Given the description of an element on the screen output the (x, y) to click on. 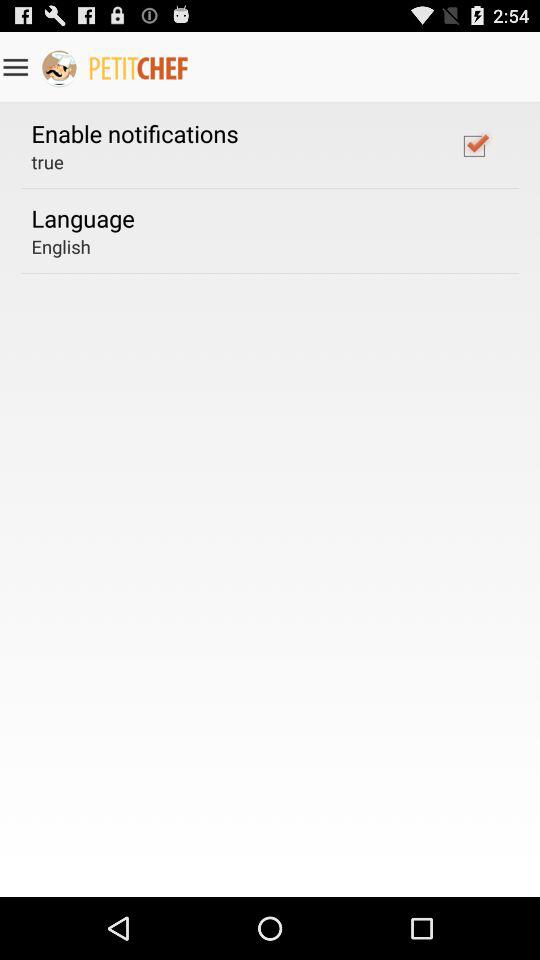
choose the language item (82, 218)
